Given the description of an element on the screen output the (x, y) to click on. 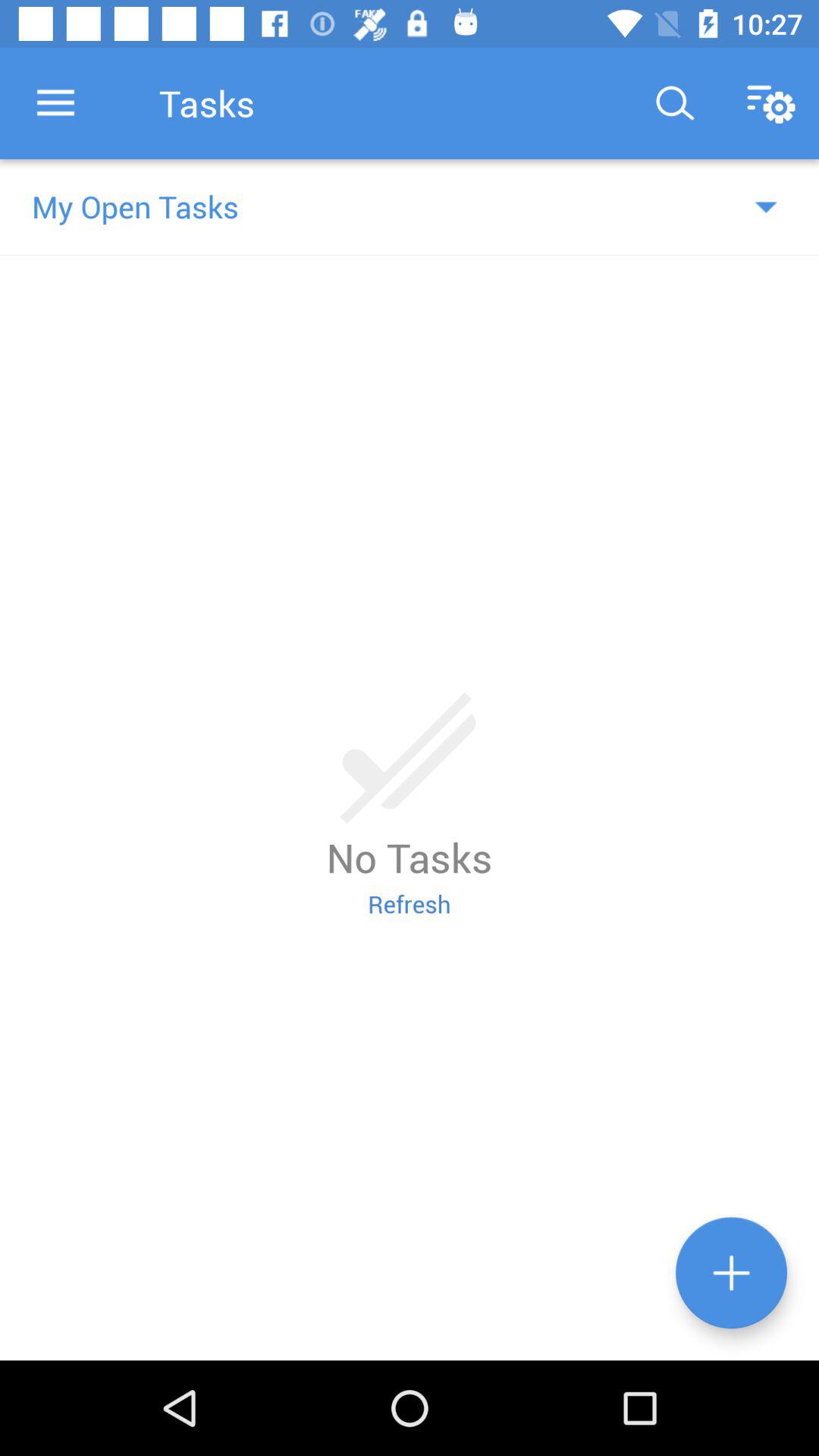
add task (731, 1272)
